Given the description of an element on the screen output the (x, y) to click on. 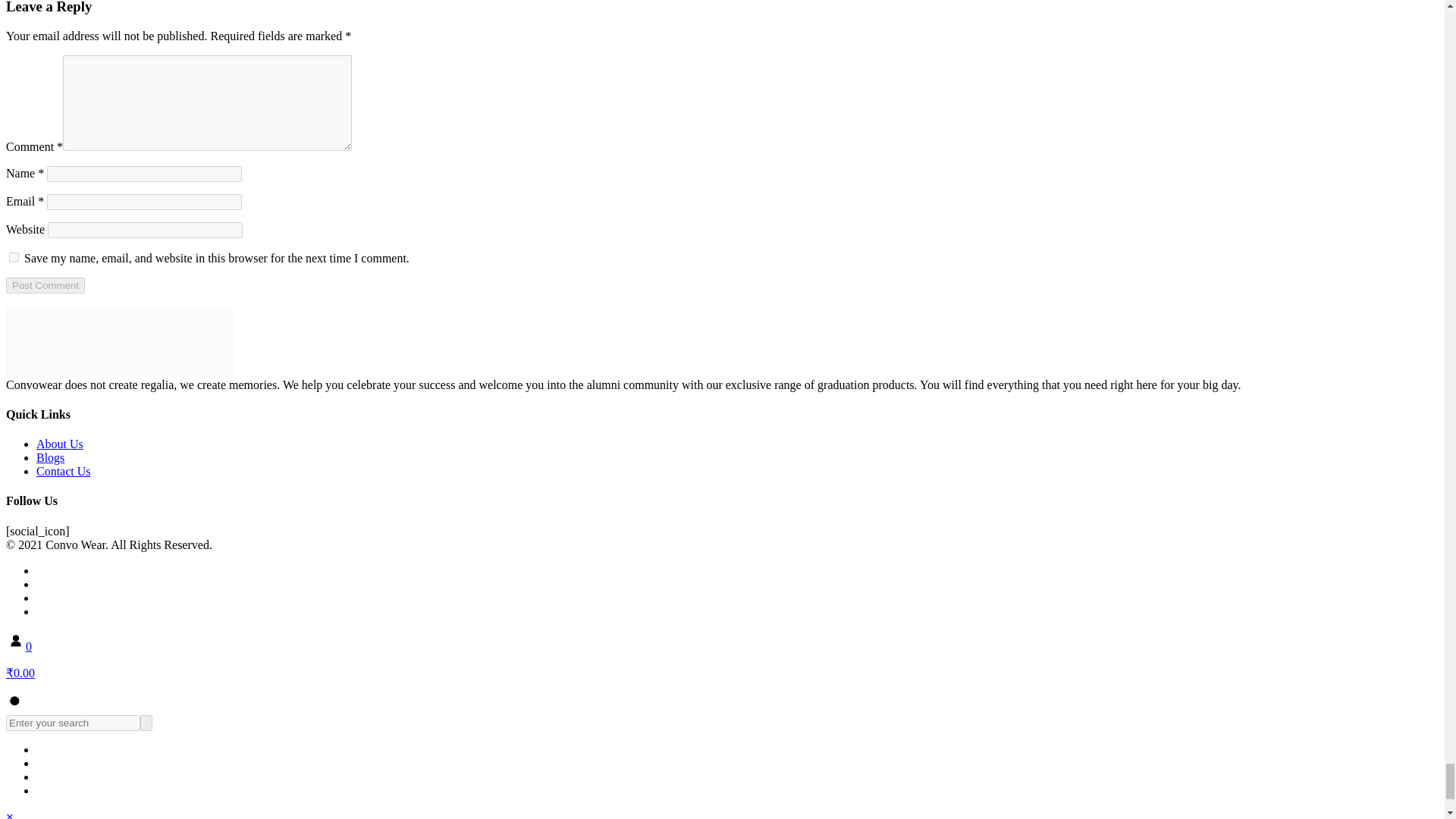
Post Comment (44, 285)
yes (13, 257)
